Given the description of an element on the screen output the (x, y) to click on. 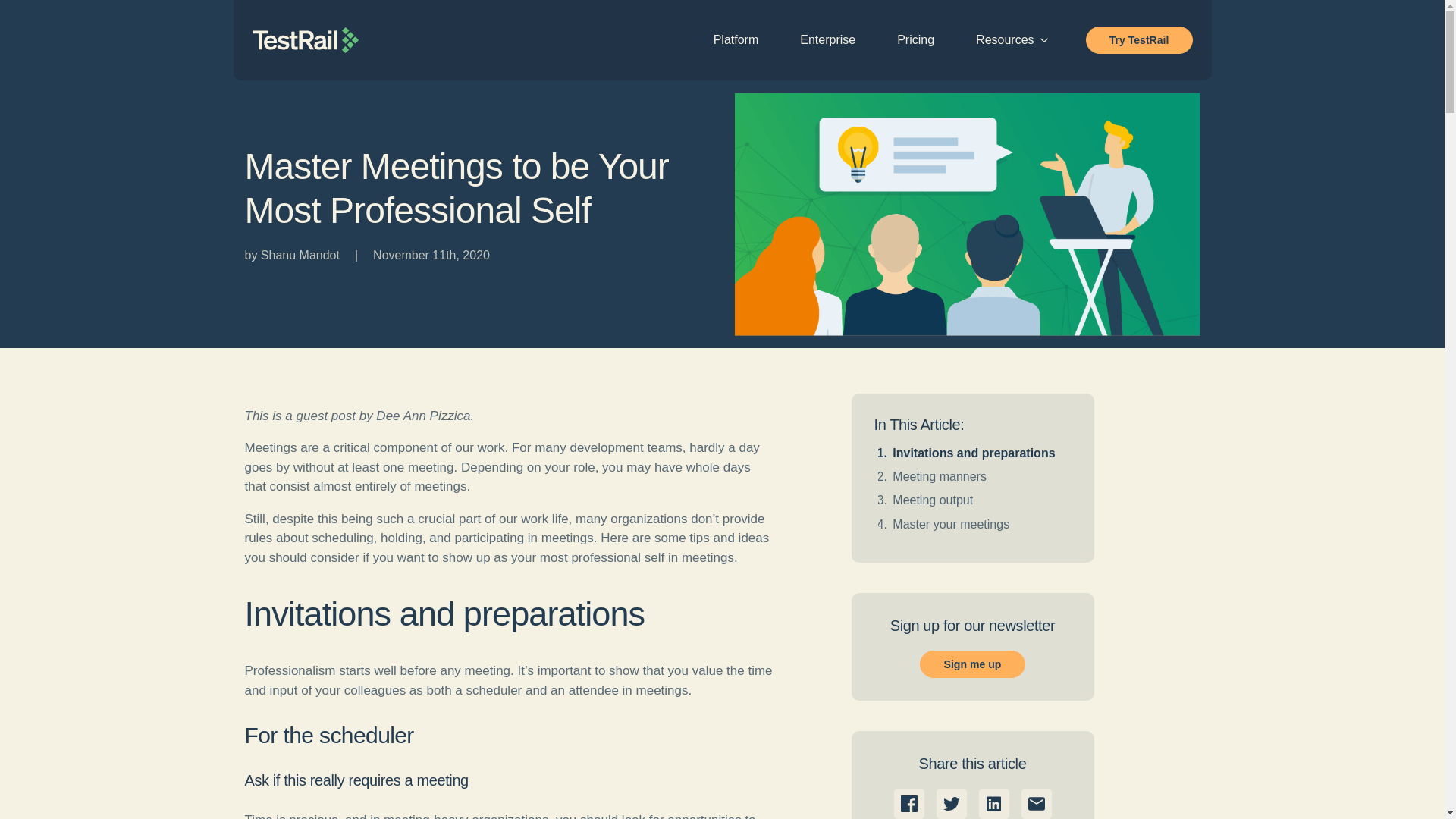
Platform (736, 39)
Enterprise (827, 39)
Resources (996, 39)
Pricing (915, 39)
Sign me up (972, 664)
Meeting manners (939, 476)
Try TestRail (1139, 40)
Invitations and preparations (973, 452)
Meeting output (932, 499)
Master your meetings (950, 523)
